Given the description of an element on the screen output the (x, y) to click on. 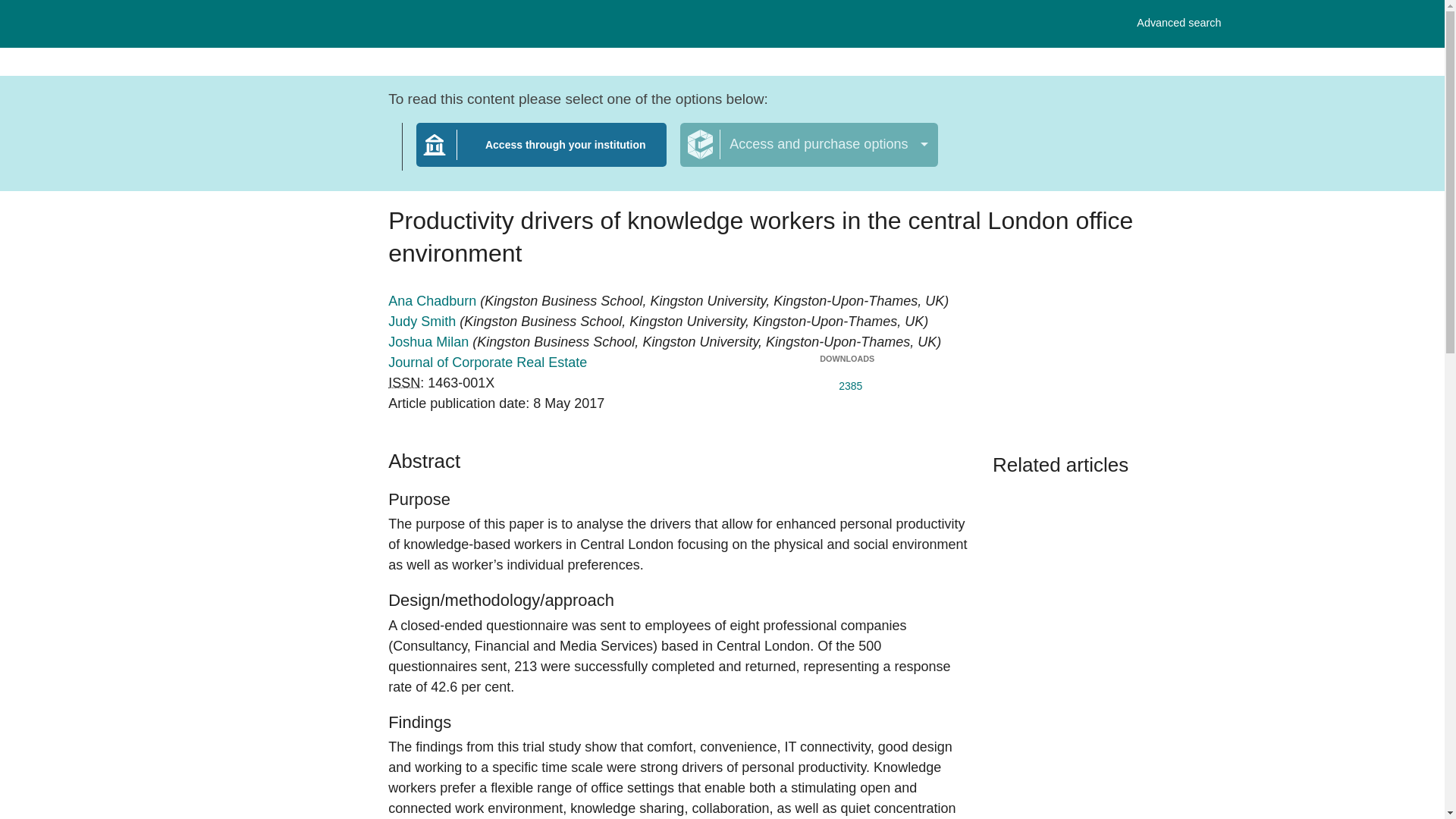
Joshua Milan (429, 341)
Journal of Corporate Real Estate (487, 362)
Judy Smith (1178, 23)
Access through your institution (424, 321)
This item has been downloaded 2385 times since 2017. (541, 153)
Access and purchase options (846, 382)
International Standard Serial Number. (808, 144)
Ana Chadburn (404, 382)
